Given the description of an element on the screen output the (x, y) to click on. 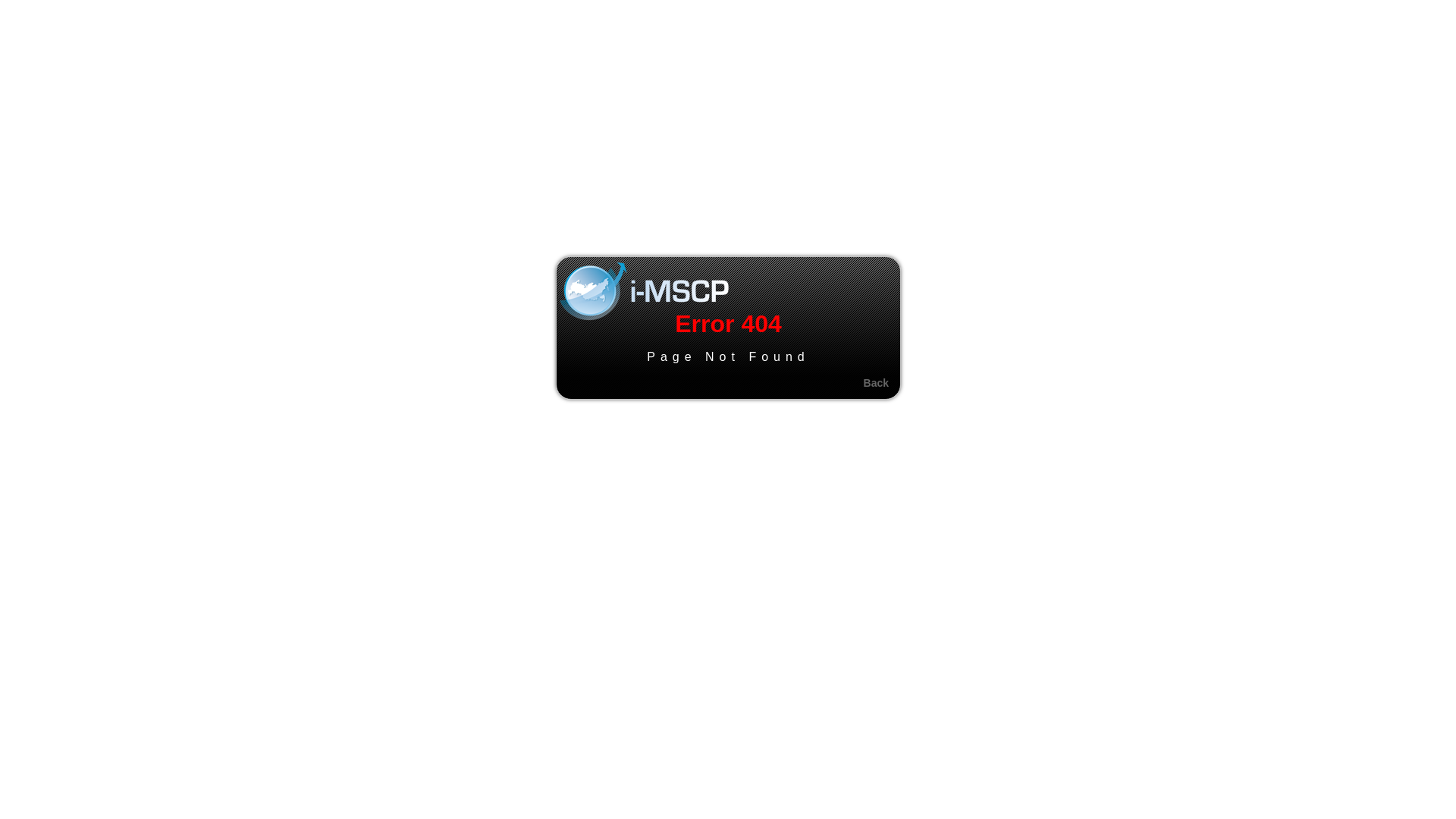
Back Element type: text (875, 382)
